Given the description of an element on the screen output the (x, y) to click on. 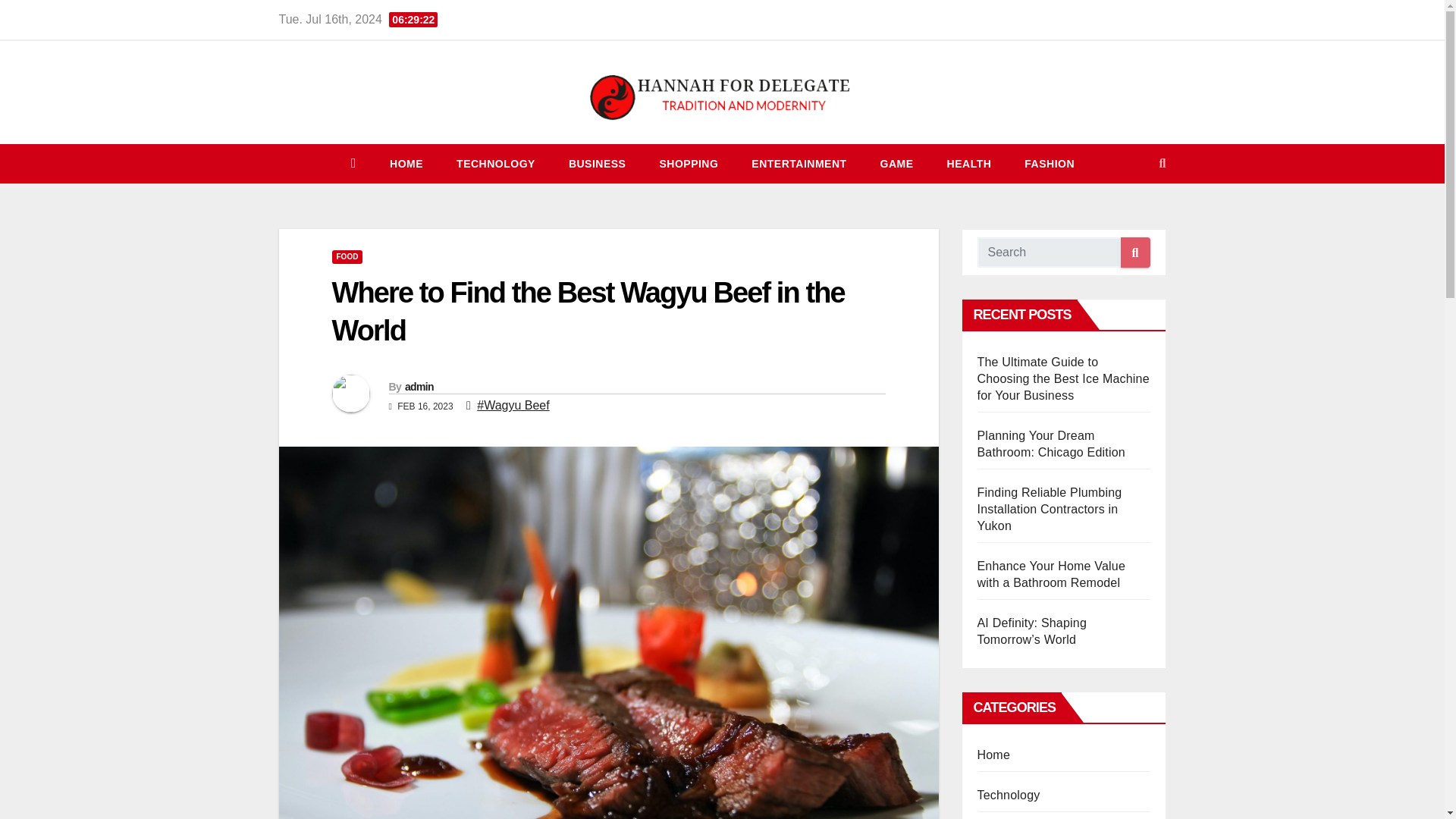
Planning Your Dream Bathroom: Chicago Edition (1050, 443)
admin (418, 386)
Home (405, 163)
HEALTH (969, 163)
Game (896, 163)
Business (597, 163)
GAME (896, 163)
TECHNOLOGY (495, 163)
Shopping (688, 163)
ENTERTAINMENT (799, 163)
Entertainment (799, 163)
Permalink to: Where to Find the Best Wagyu Beef in the World (587, 310)
SHOPPING (688, 163)
FOOD (346, 256)
BUSINESS (597, 163)
